Given the description of an element on the screen output the (x, y) to click on. 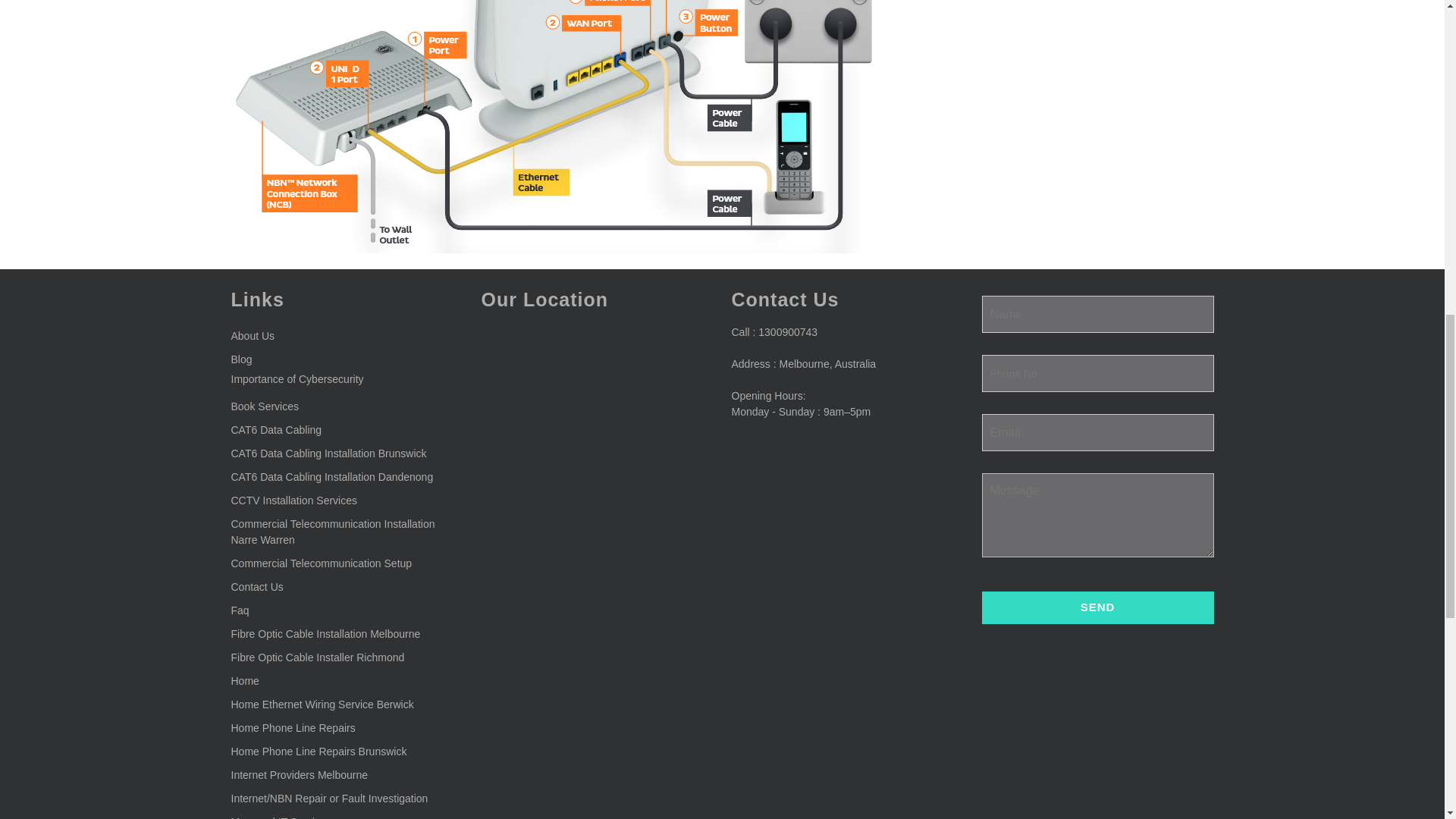
Send (1096, 607)
